Given the description of an element on the screen output the (x, y) to click on. 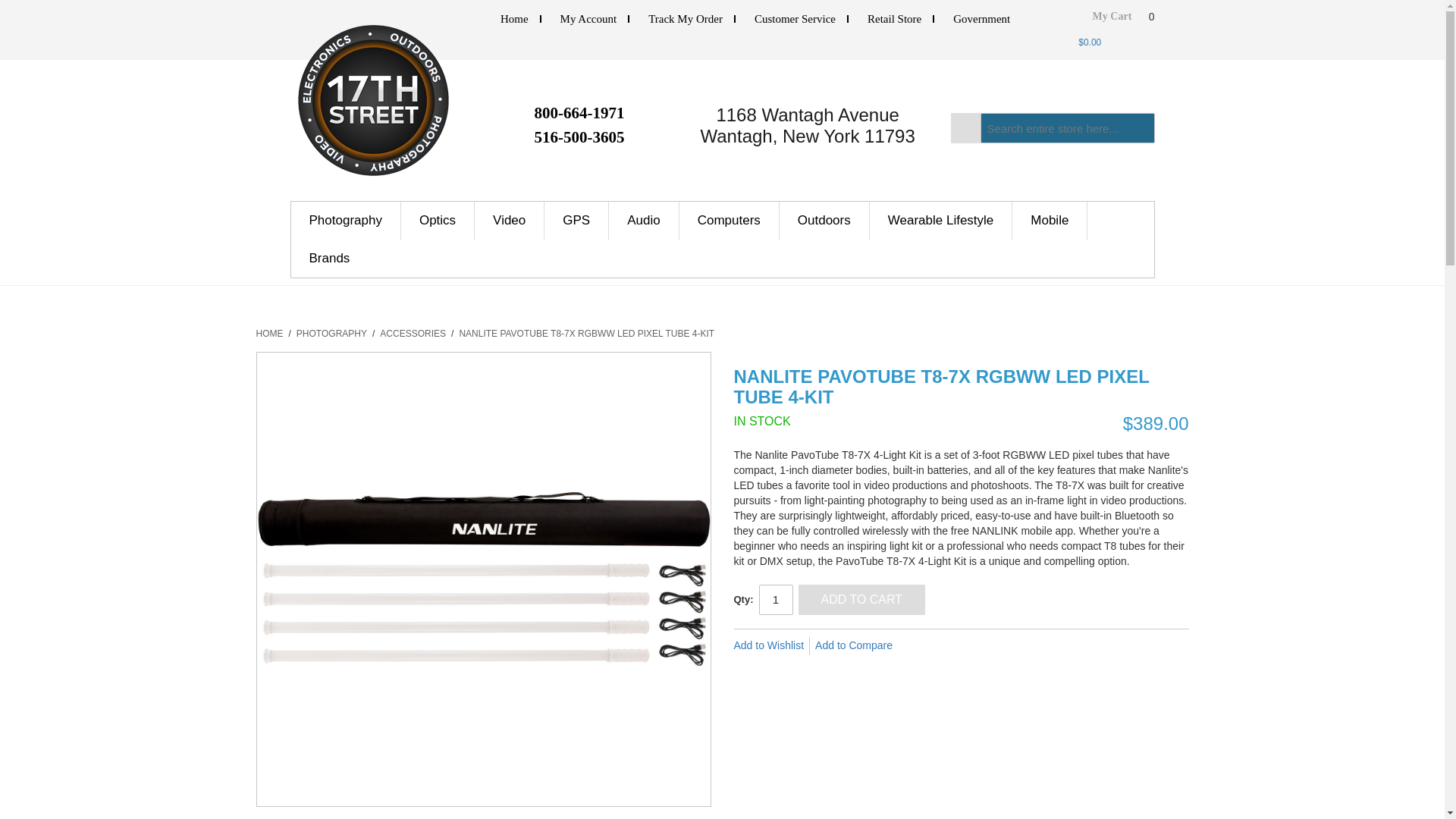
GPS (576, 220)
My Cart (1113, 20)
Customer Service (794, 19)
Retail Store (894, 19)
1 (775, 599)
Video (509, 220)
My Account (588, 19)
Home (514, 19)
Search (965, 128)
